Given the description of an element on the screen output the (x, y) to click on. 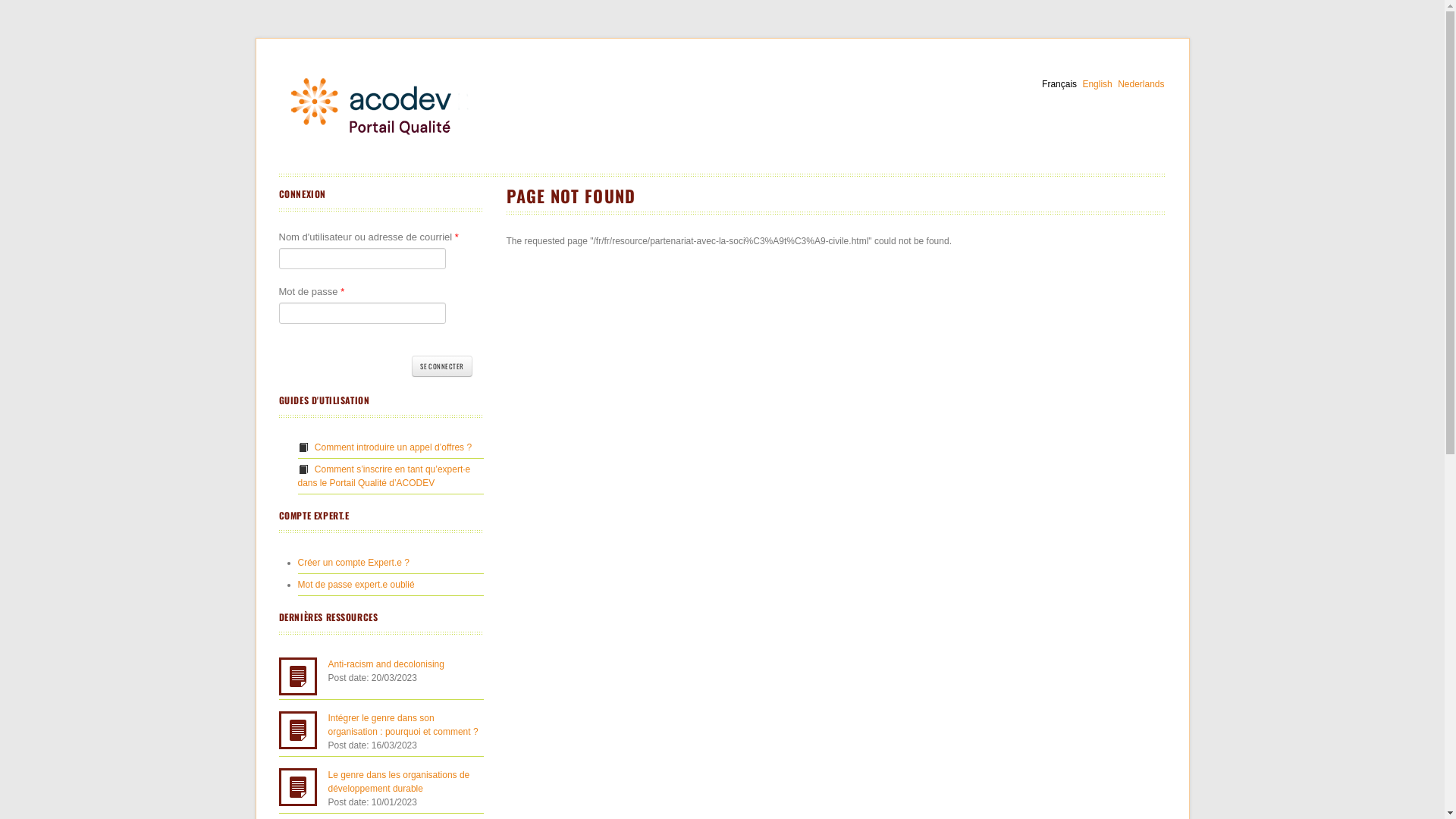
Se connecter Element type: text (441, 365)
Anti-racism and decolonising Element type: text (385, 663)
Nederlands Element type: text (1140, 83)
English Element type: text (1096, 83)
